Given the description of an element on the screen output the (x, y) to click on. 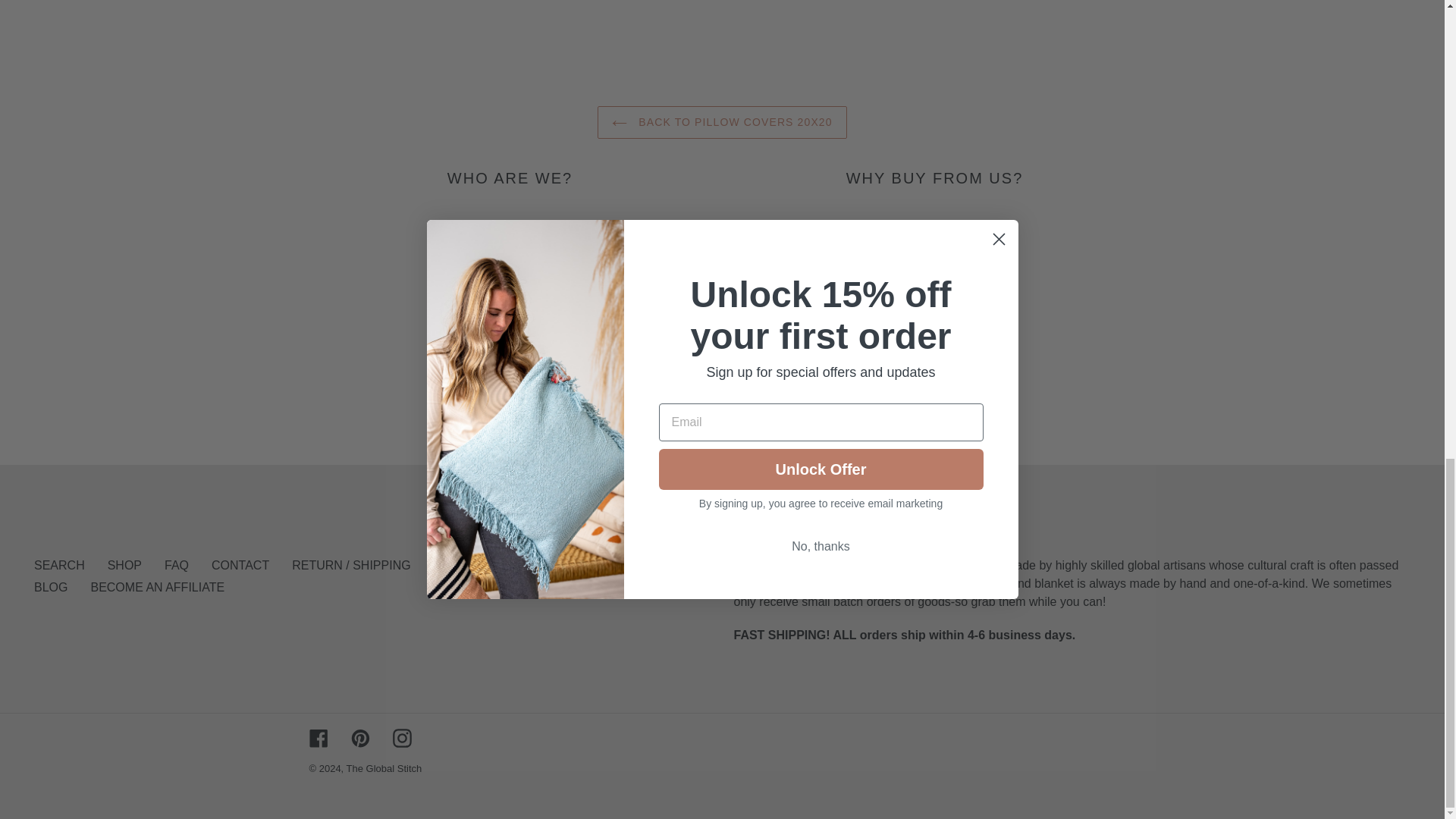
Product reviews widget (721, 22)
